Given the description of an element on the screen output the (x, y) to click on. 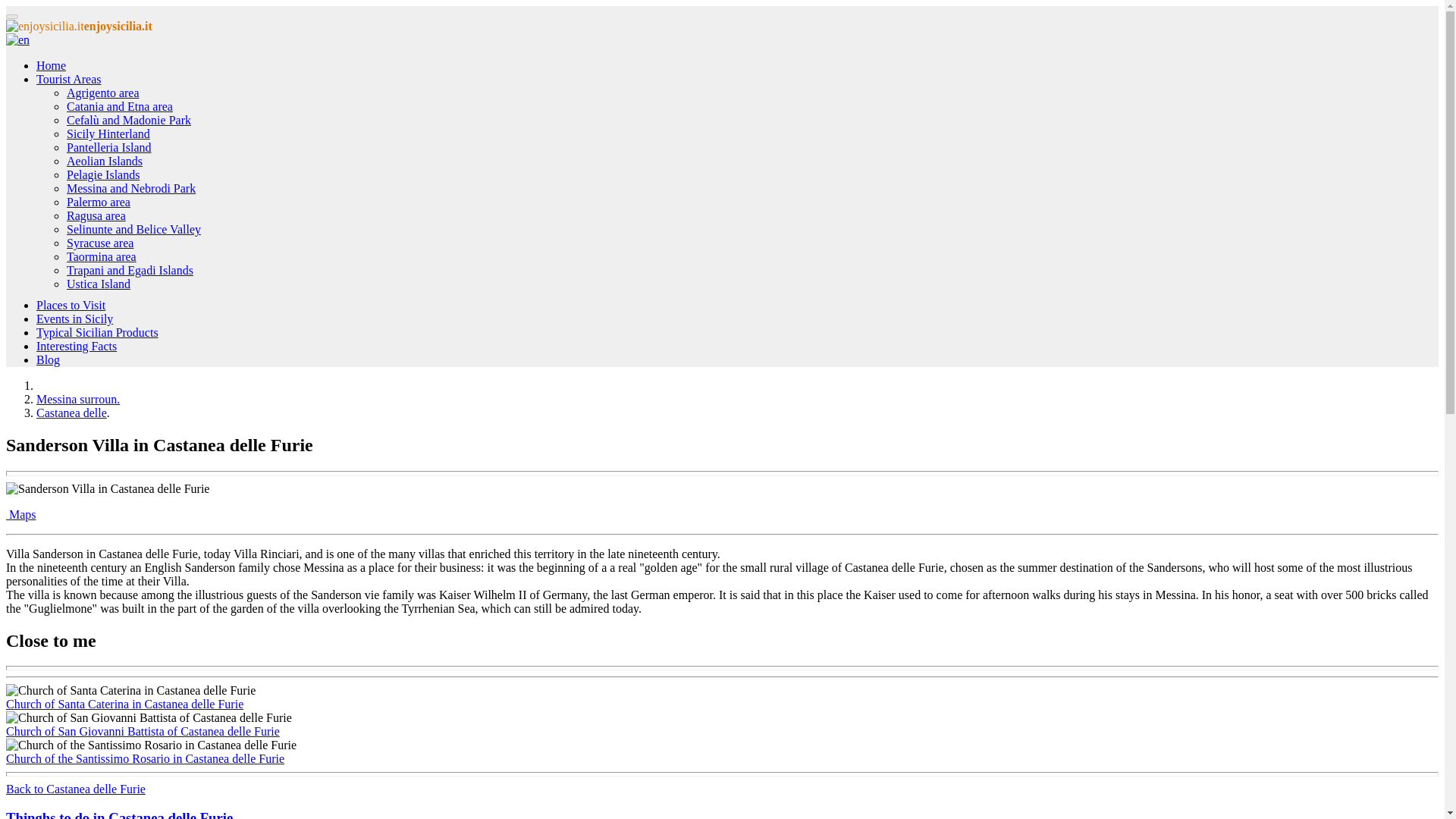
Aeolian Islands (104, 160)
Castanea delle (71, 412)
Castanea delle Furie (71, 412)
Events in Sicily (74, 318)
Taormina area (101, 256)
Agrigento area (102, 92)
Sicily Hinterland (107, 133)
Pelagie Islands (102, 174)
Messina surroundings (77, 399)
Home (50, 65)
